Given the description of an element on the screen output the (x, y) to click on. 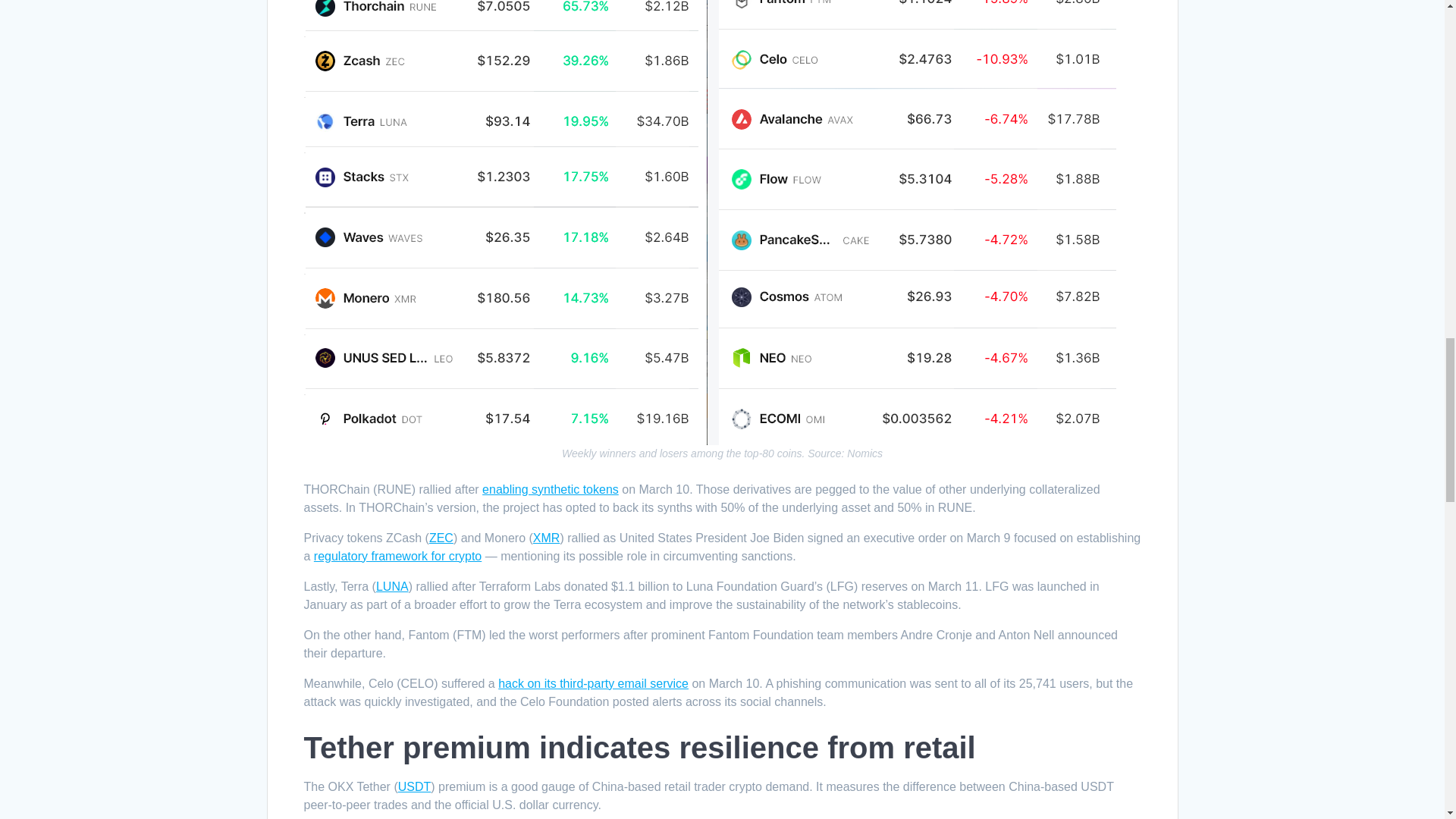
XMR (546, 537)
USDT (413, 786)
LUNA (392, 585)
enabling synthetic tokens (549, 489)
regulatory framework for crypto (397, 555)
ZEC (440, 537)
hack on its third-party email service (592, 683)
